Given the description of an element on the screen output the (x, y) to click on. 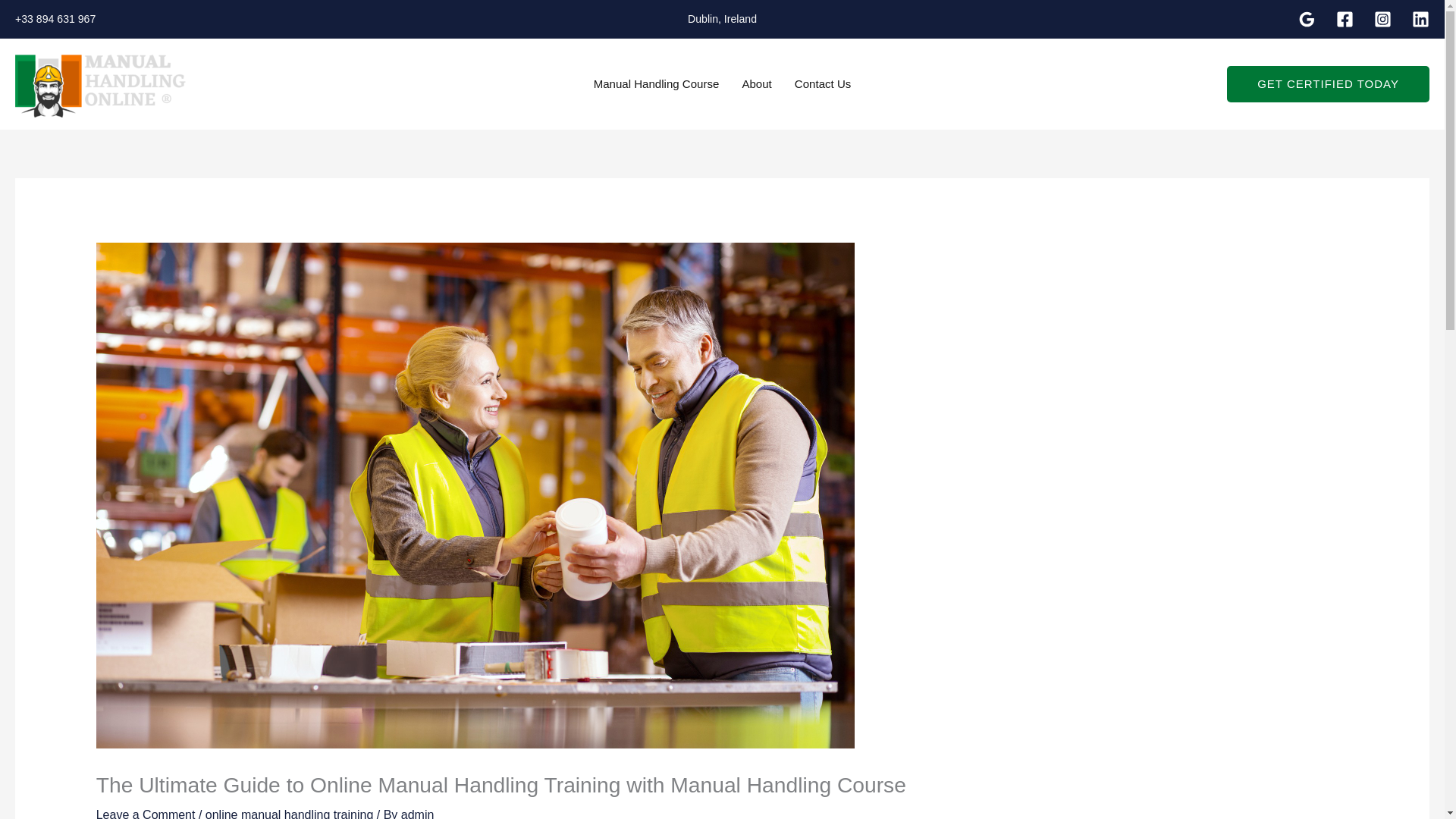
Manual Handling Course (656, 83)
View all posts by admin (417, 813)
GET CERTIFIED TODAY (1328, 84)
Leave a Comment (145, 813)
online manual handling training (289, 813)
About (756, 83)
admin (417, 813)
Contact Us (823, 83)
